Given the description of an element on the screen output the (x, y) to click on. 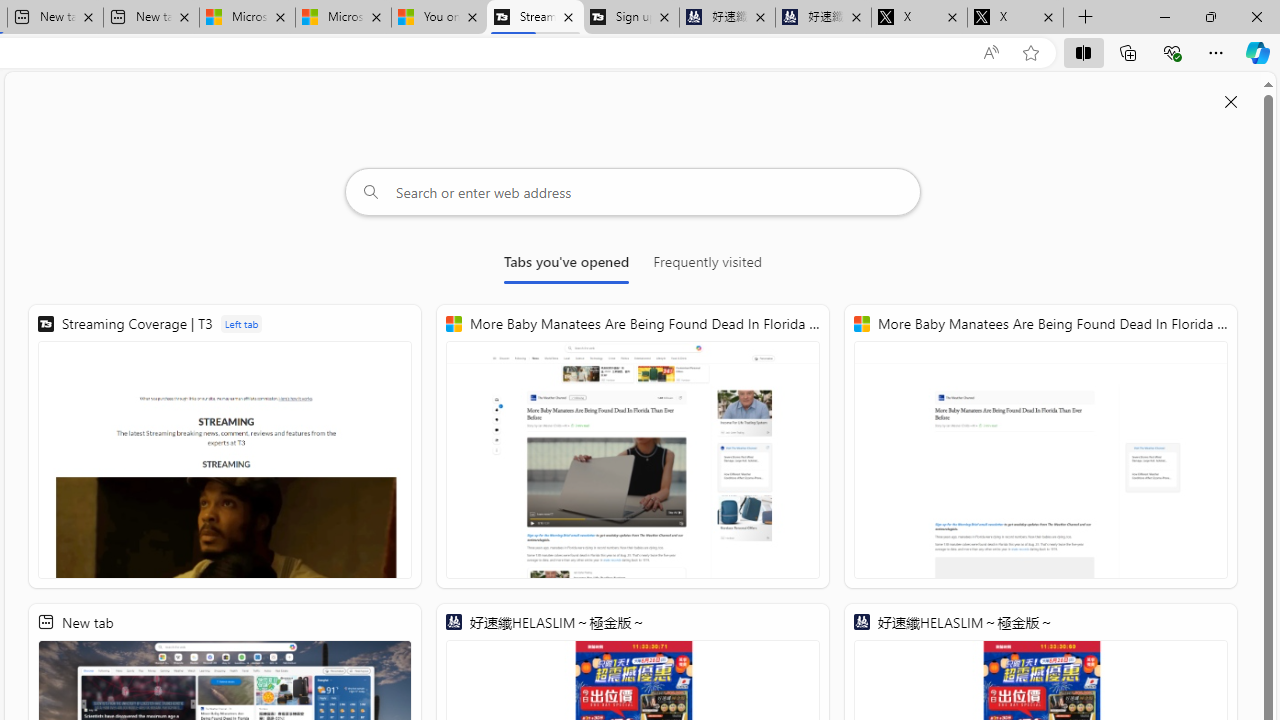
Close split screen (1231, 102)
Search or enter web address (633, 191)
Streaming Coverage | T3 (534, 17)
